Given the description of an element on the screen output the (x, y) to click on. 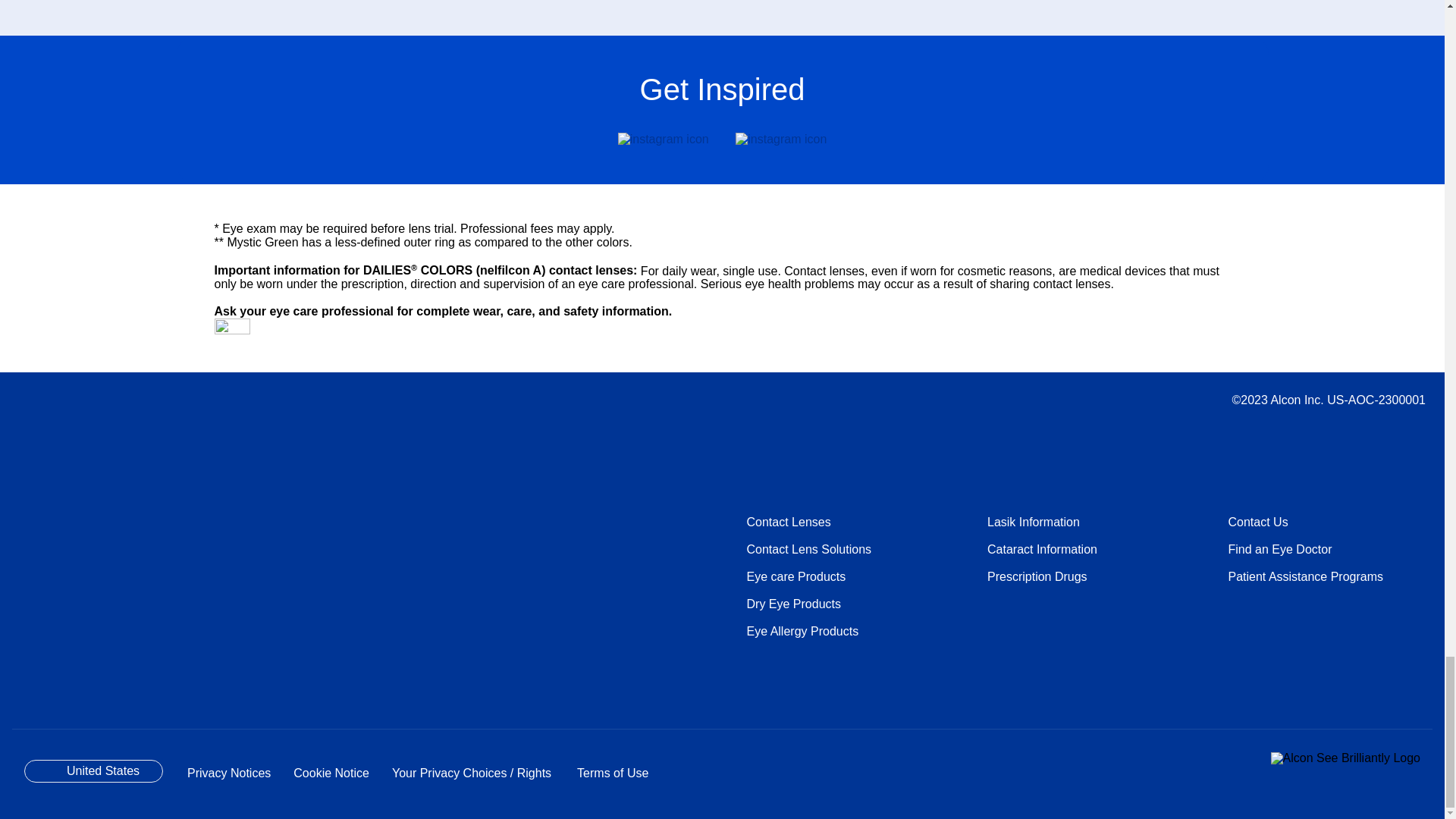
United States (93, 771)
